Given the description of an element on the screen output the (x, y) to click on. 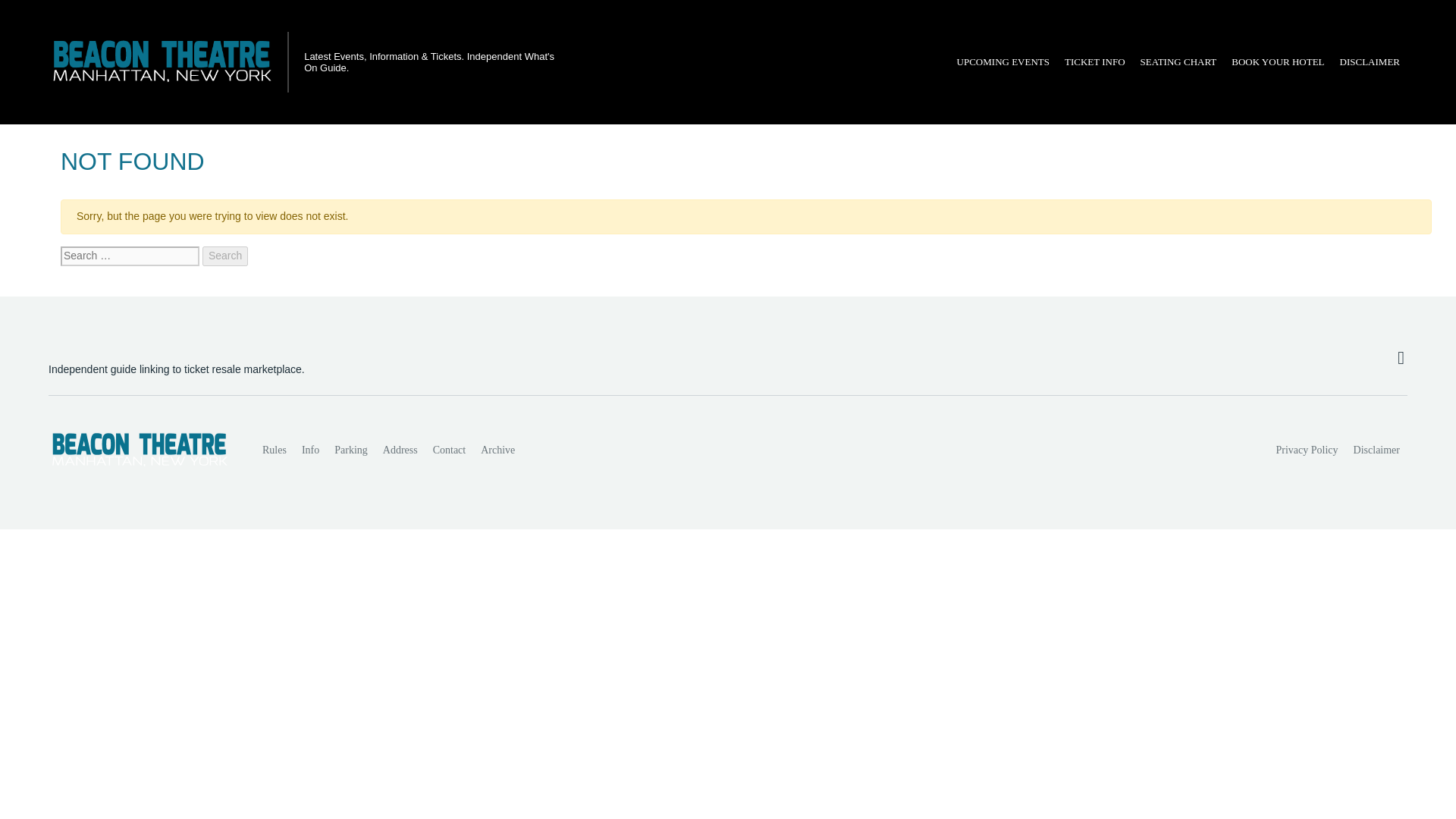
Parking (350, 450)
BOOK YOUR HOTEL (1278, 61)
Search (224, 256)
Search (224, 256)
UPCOMING EVENTS (1003, 61)
Info (310, 450)
Search (224, 256)
Disclaimer (1376, 450)
Address (400, 450)
Privacy Policy (1306, 450)
